Given the description of an element on the screen output the (x, y) to click on. 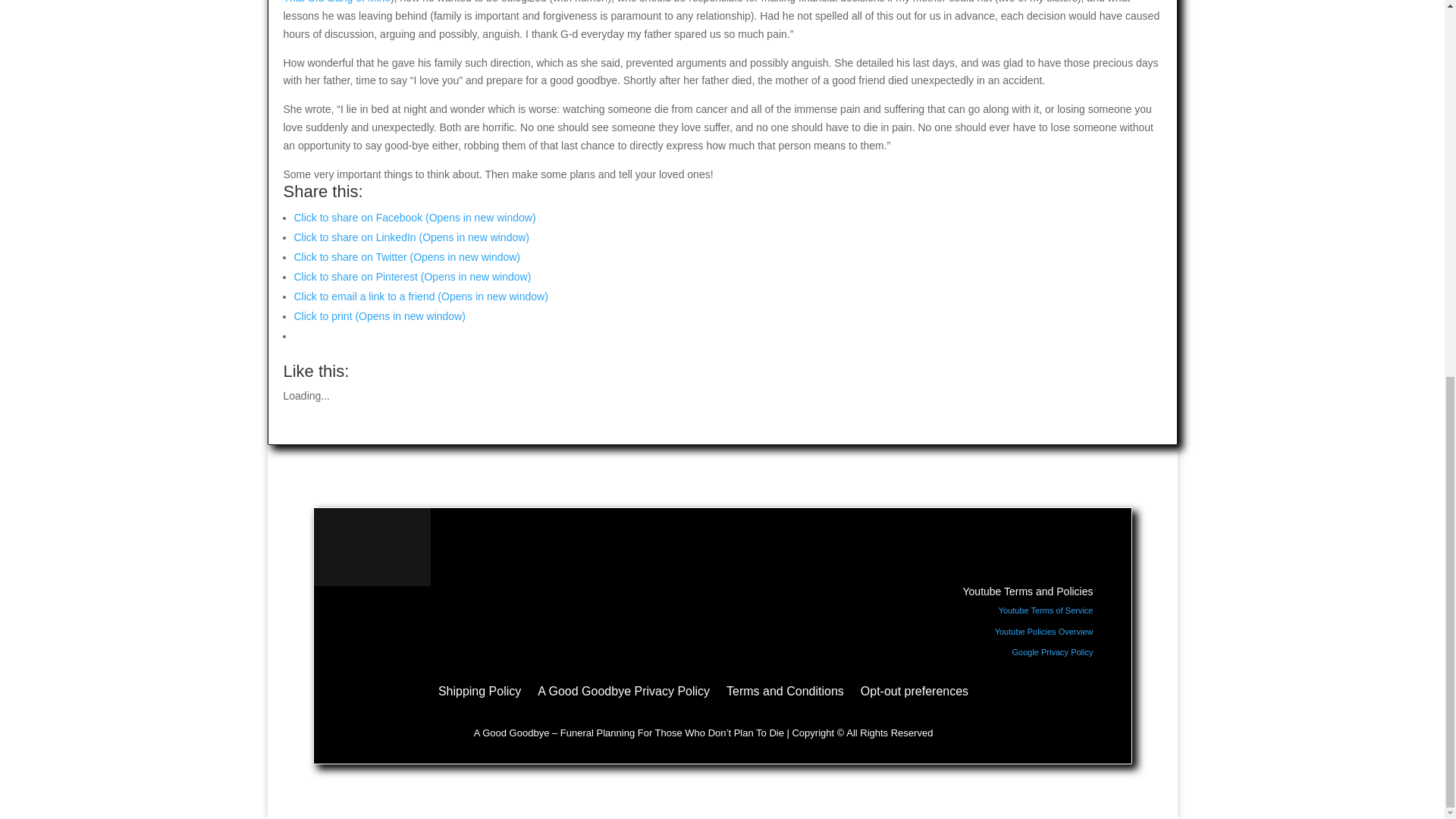
Click to share on Facebook (414, 217)
Click to share on LinkedIn (411, 236)
Click to share on Twitter (407, 256)
Click to email a link to a friend (421, 296)
Click to print (379, 316)
Click to share on Pinterest (412, 276)
